Given the description of an element on the screen output the (x, y) to click on. 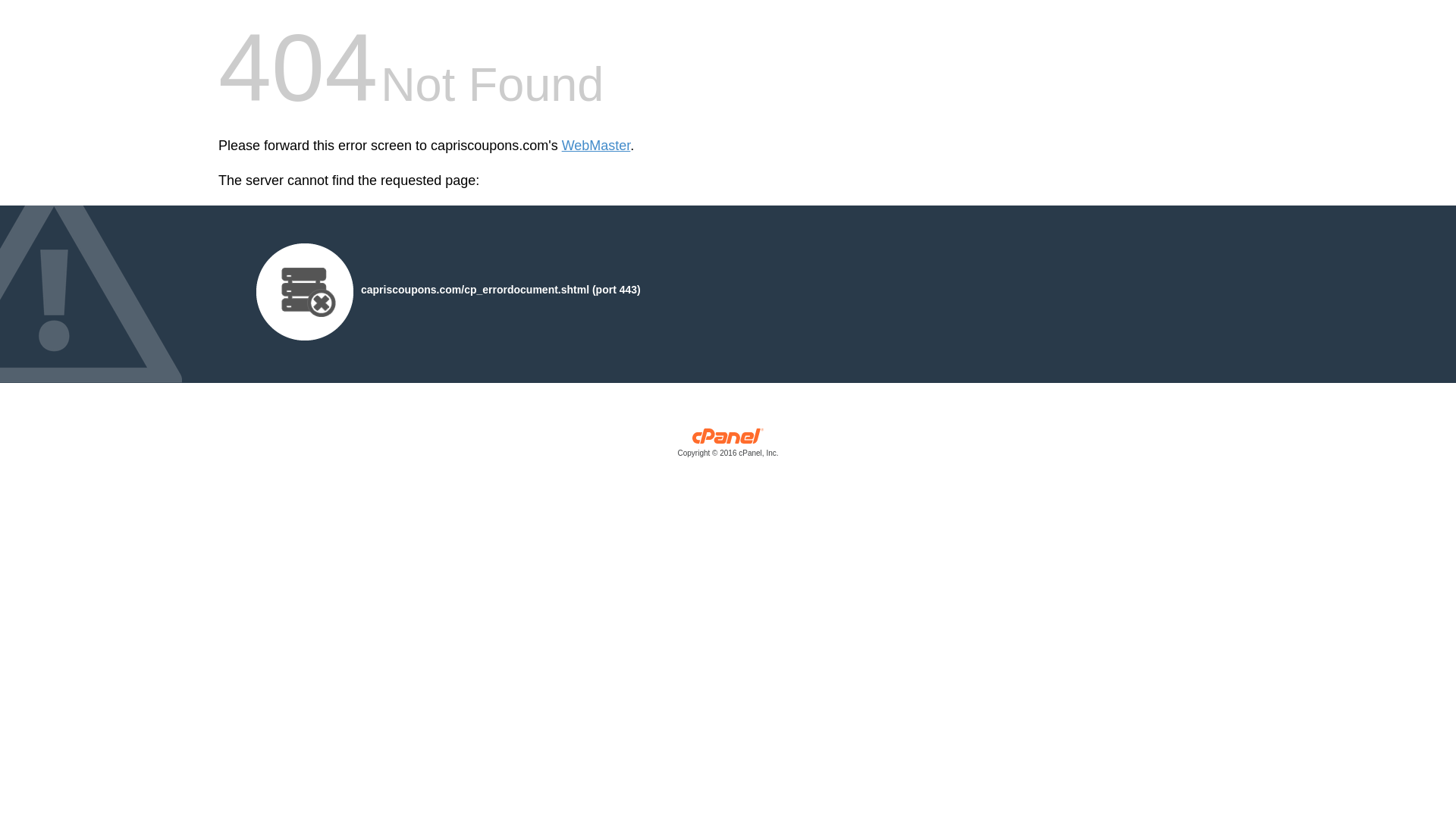
cPanel, Inc. (727, 446)
WebMaster (596, 145)
